Given the description of an element on the screen output the (x, y) to click on. 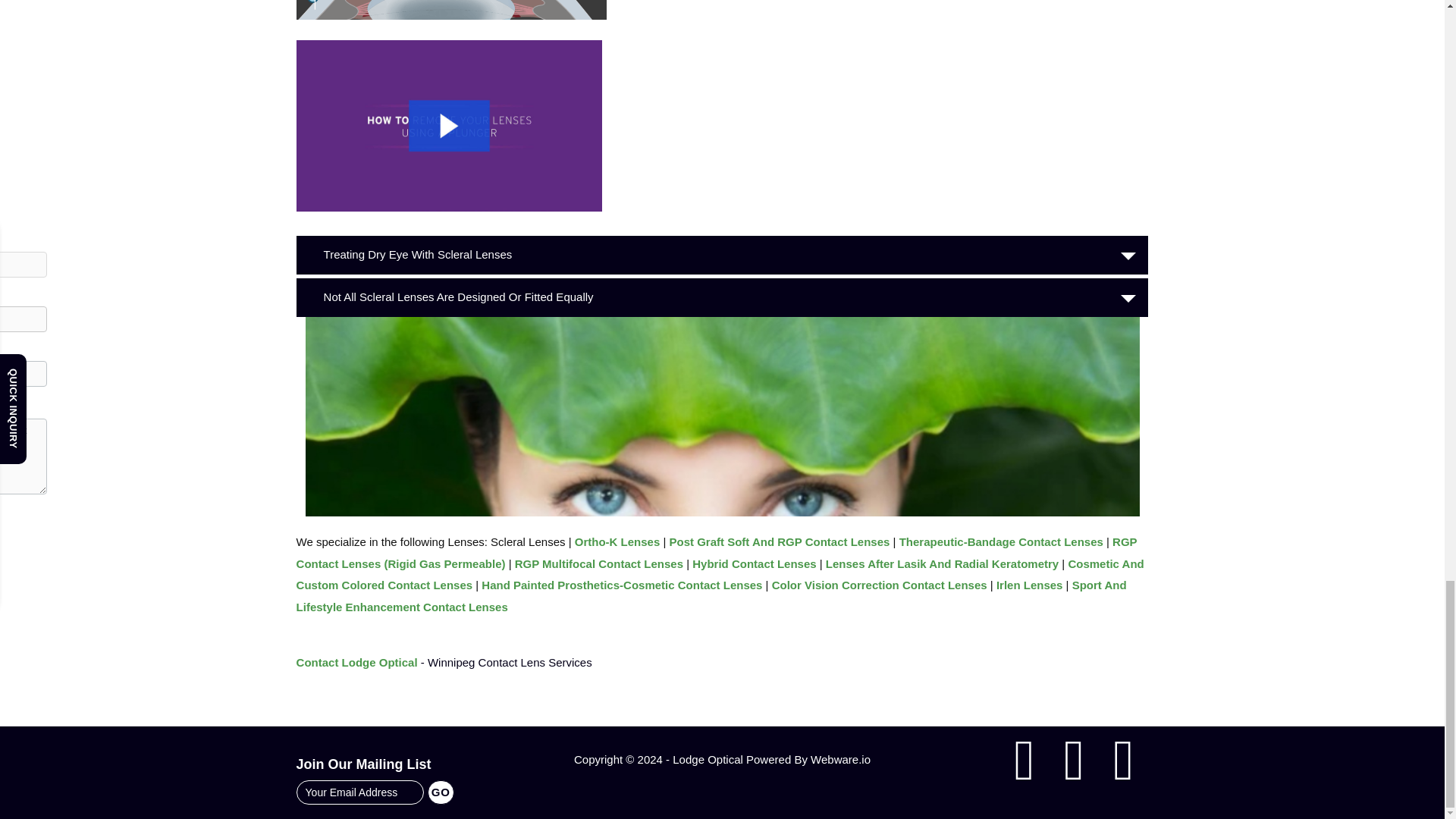
Scleral Lenses (529, 541)
GO (441, 792)
Ortho-K Lenses (619, 541)
Post Graft Soft And RGP Contact Lenses (780, 541)
Your email address (361, 792)
